Given the description of an element on the screen output the (x, y) to click on. 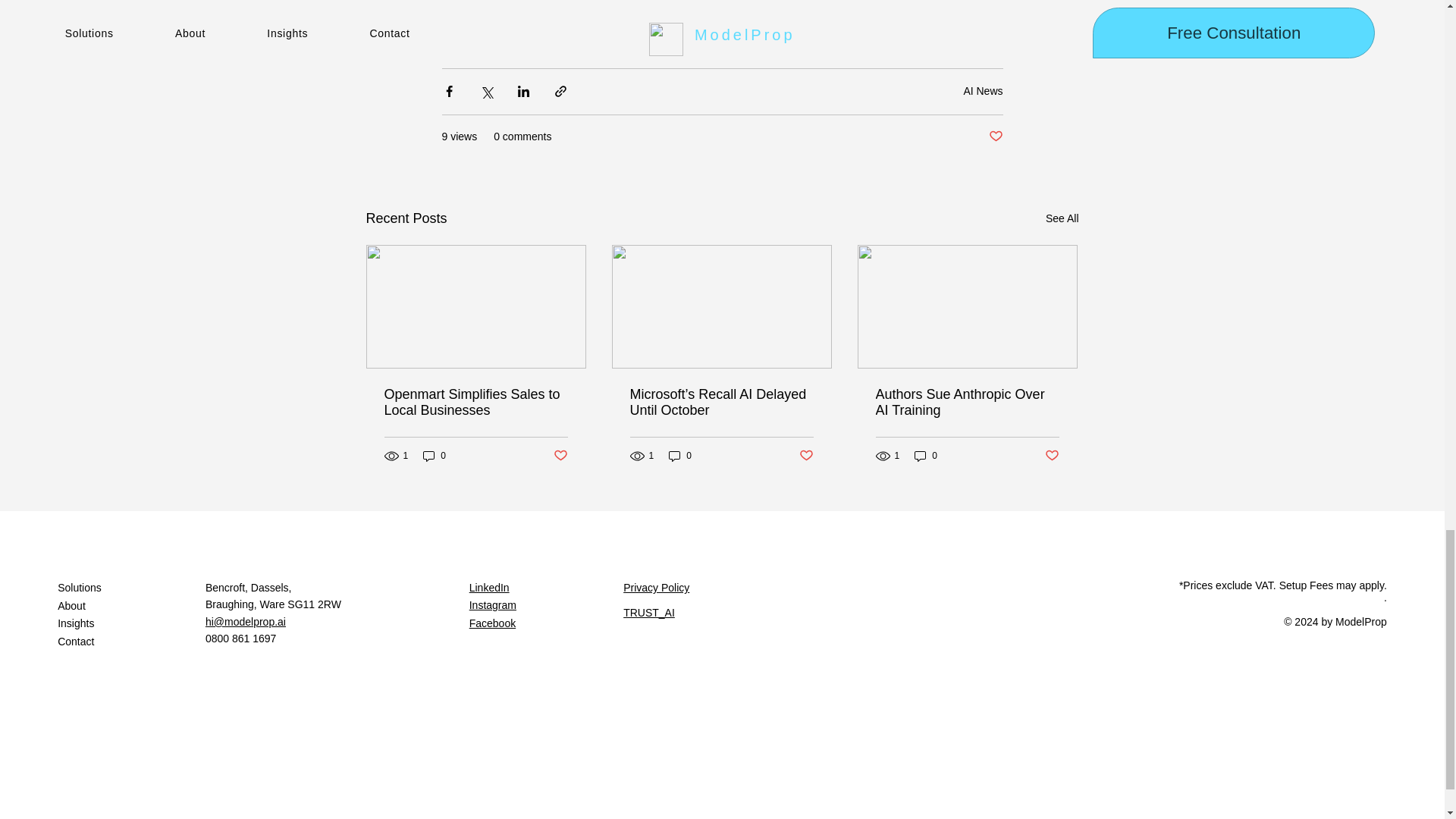
Authors Sue Anthropic Over AI Training (966, 402)
Post not marked as liked (995, 136)
Post not marked as liked (560, 455)
0 (434, 455)
Post not marked as liked (1052, 455)
Solutions (131, 588)
AI News (982, 91)
0 (925, 455)
See All (1061, 219)
About (131, 606)
